Given the description of an element on the screen output the (x, y) to click on. 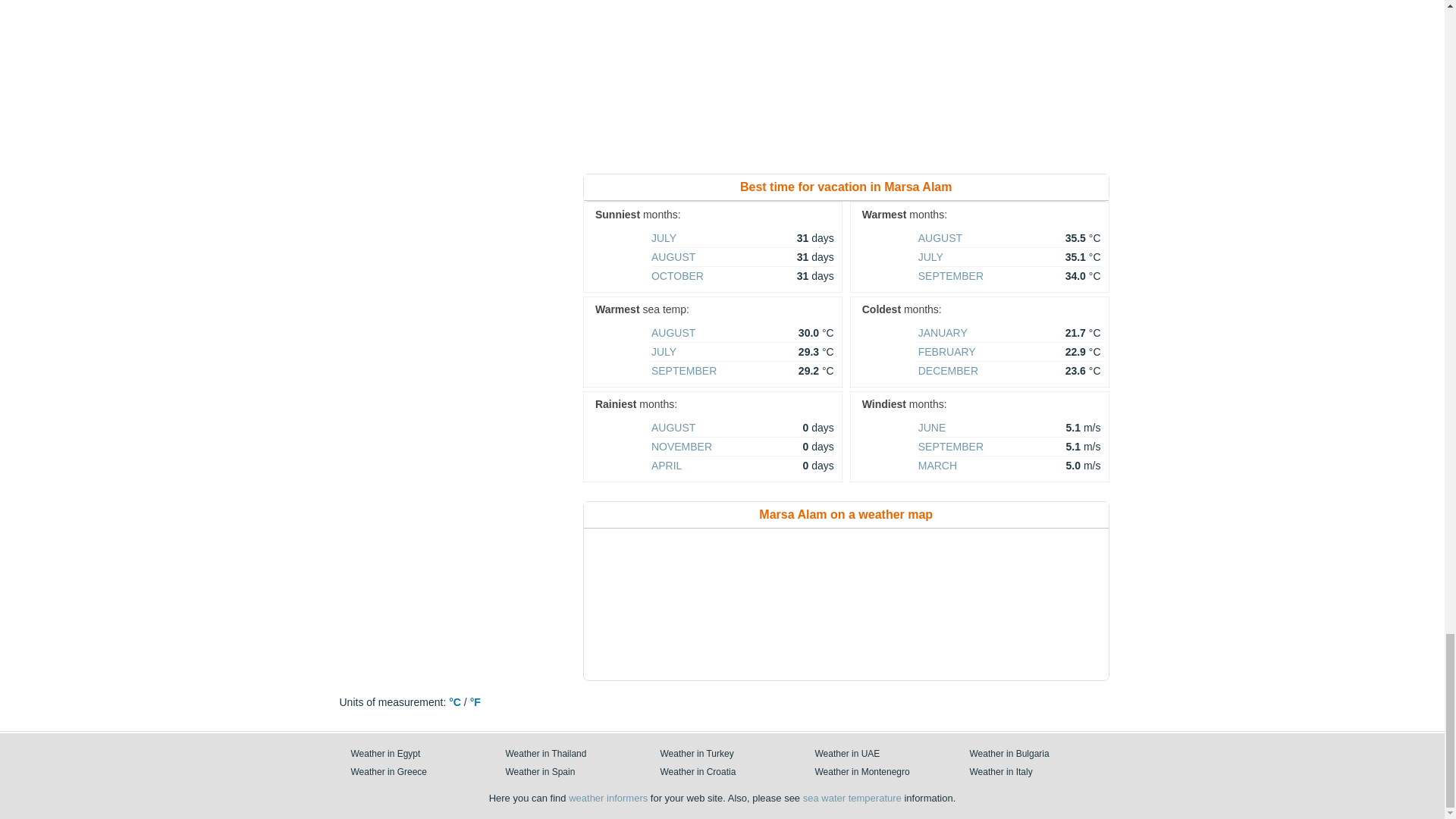
AUGUST (940, 237)
JULY (663, 237)
JULY (663, 351)
AUGUST (672, 256)
AUGUST (672, 332)
SEPTEMBER (683, 370)
SEPTEMBER (951, 275)
JANUARY (943, 332)
OCTOBER (676, 275)
JULY (930, 256)
